Given the description of an element on the screen output the (x, y) to click on. 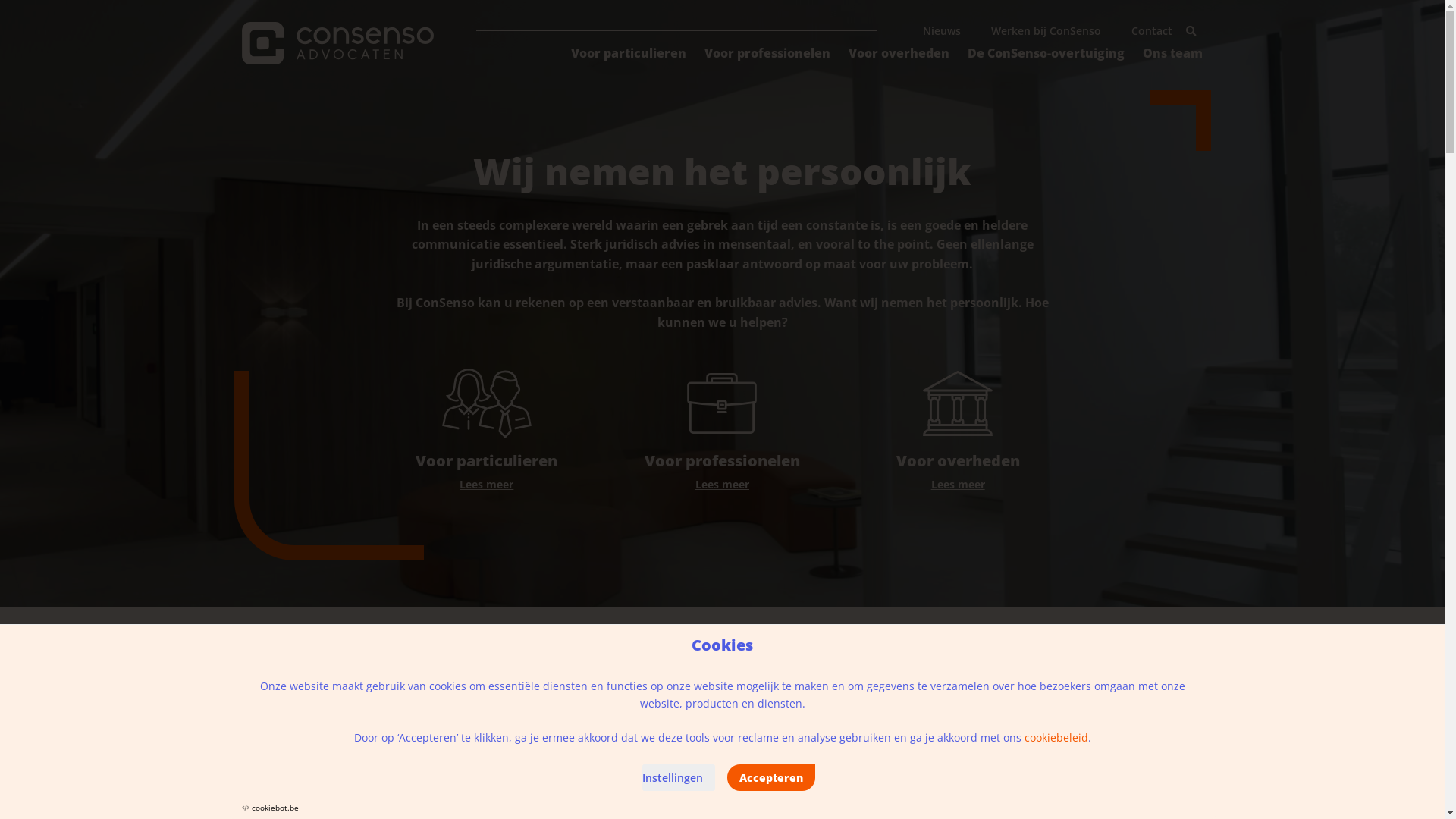
Voor overheden Element type: text (957, 430)
Voor professionelen Element type: text (767, 53)
Zoeken Element type: hover (1190, 30)
Lees meer Element type: text (722, 483)
cookiebot.be Element type: text (274, 807)
Instellingen Element type: text (677, 777)
Lees meer Element type: text (958, 483)
Voor professionelen Element type: text (722, 430)
cookiebeleid Element type: text (1055, 737)
Lees meer Element type: text (486, 483)
Nieuws Element type: text (941, 29)
Ons team Element type: text (1172, 53)
Voor particulieren Element type: text (628, 53)
ConSenso advocaten Element type: text (337, 42)
1 Element type: text (1190, 30)
Contact Element type: text (1151, 29)
Accepteren Element type: text (770, 777)
Voor overheden Element type: text (898, 53)
Voor particulieren Element type: text (486, 430)
Werken bij ConSenso Element type: text (1046, 29)
De ConSenso-overtuiging Element type: text (1045, 53)
